Given the description of an element on the screen output the (x, y) to click on. 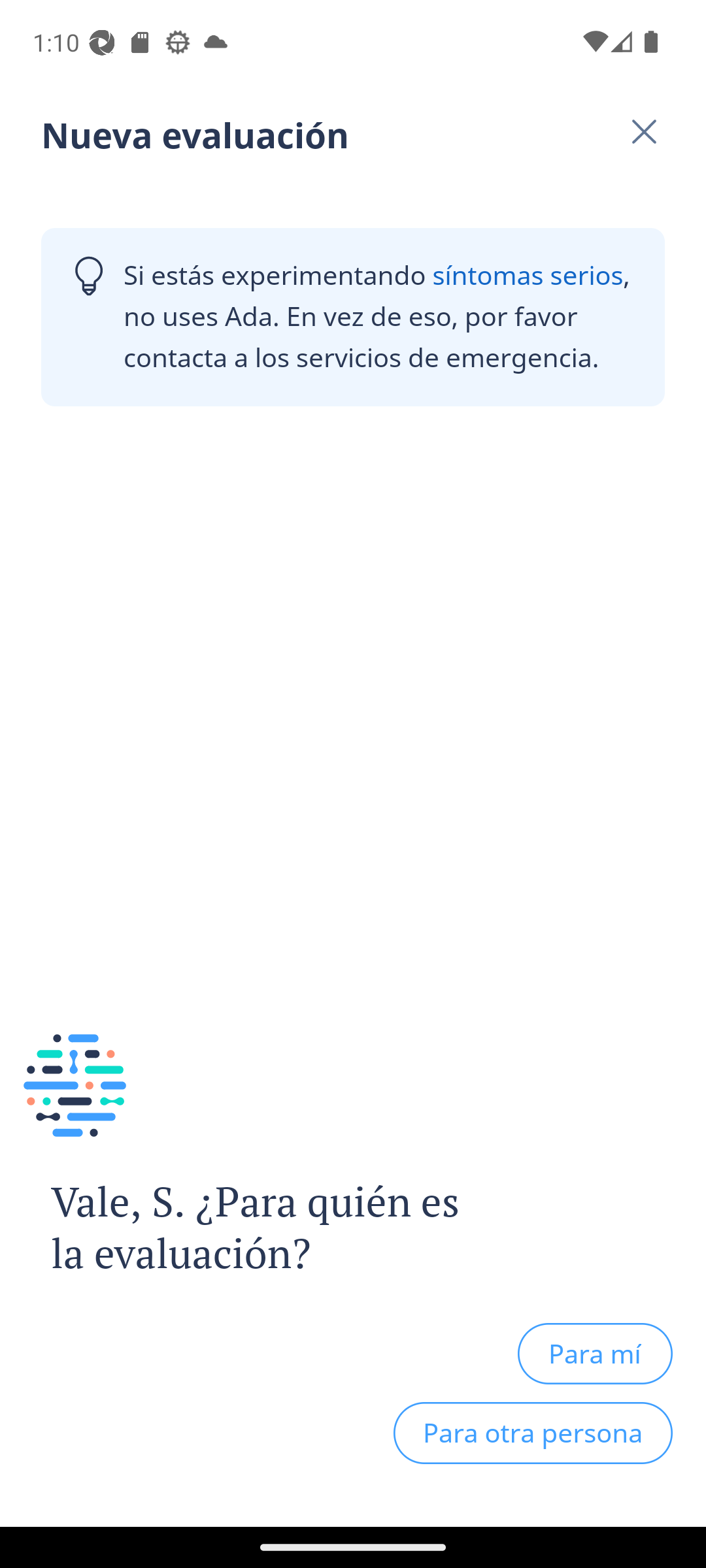
Vale, S. ¿Para quién es la evaluación? (240, 1227)
Para mí (594, 1352)
Para otra persona (532, 1432)
